Given the description of an element on the screen output the (x, y) to click on. 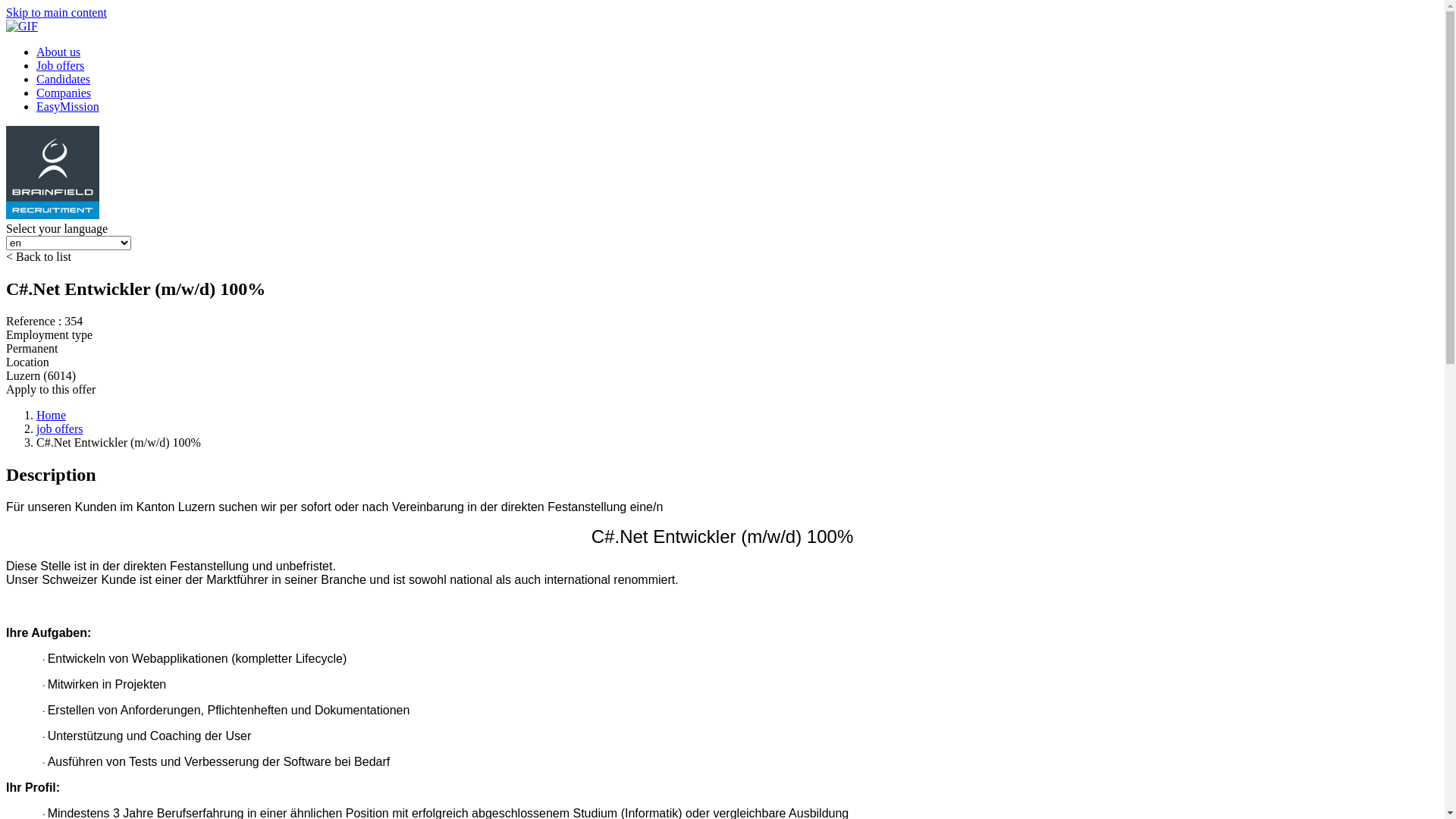
About us Element type: text (58, 51)
Skip to main content Element type: text (56, 12)
< Back to list Element type: text (38, 256)
Job offers Element type: text (60, 65)
Companies Element type: text (63, 92)
Home Element type: text (50, 414)
job offers Element type: text (59, 428)
EasyMission Element type: text (67, 106)
Candidates Element type: text (63, 78)
